Given the description of an element on the screen output the (x, y) to click on. 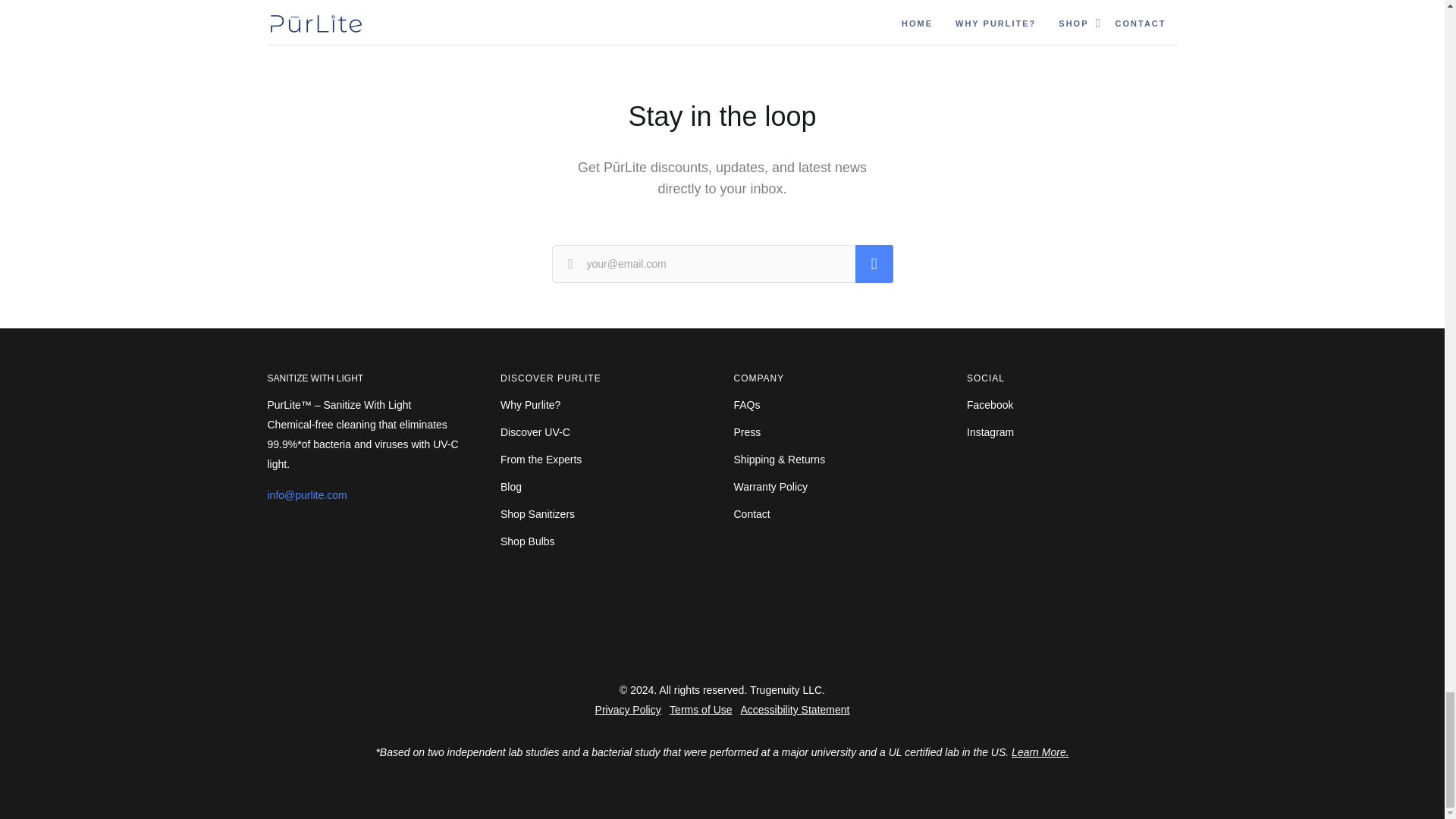
Instagram (989, 432)
Facebook (989, 404)
Subscribe (874, 263)
